Given the description of an element on the screen output the (x, y) to click on. 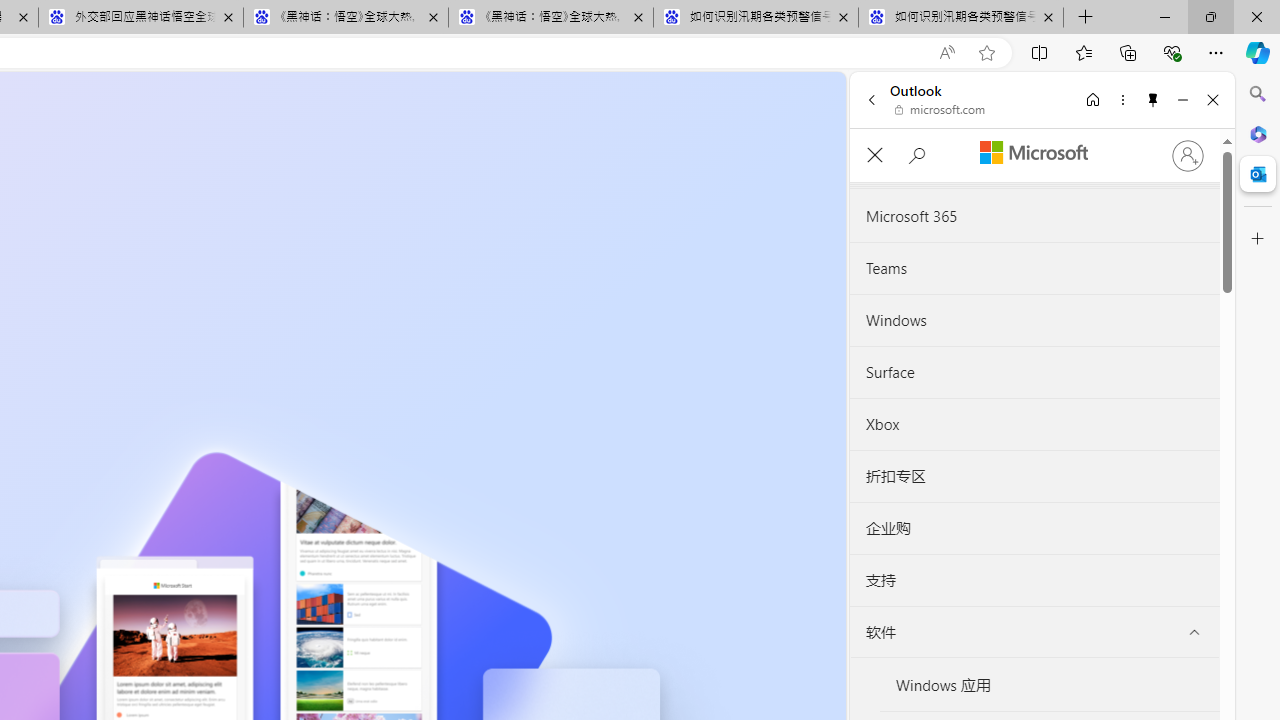
Microsoft (1033, 153)
Windows (1034, 319)
